Given the description of an element on the screen output the (x, y) to click on. 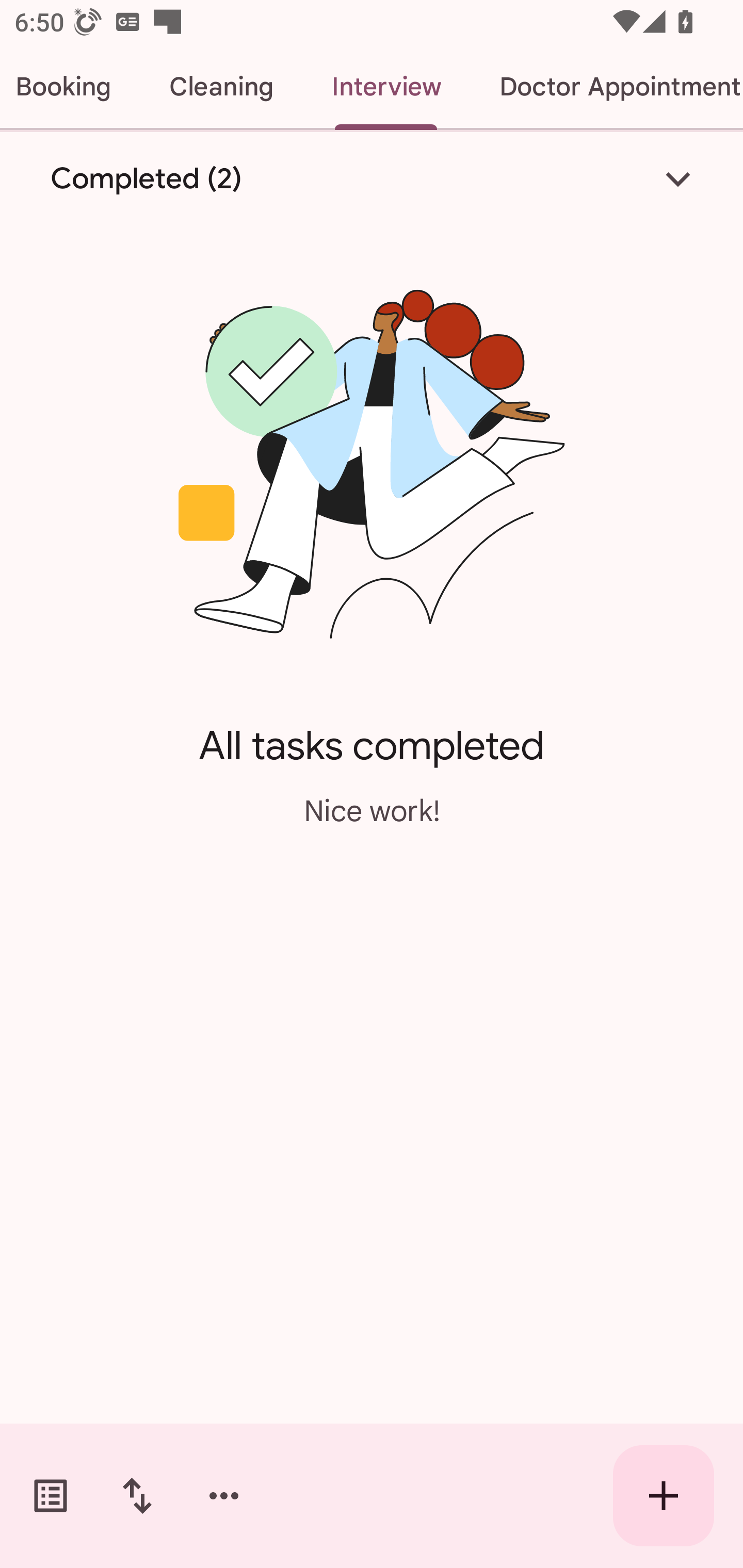
Hotel Booking (69, 86)
Cleaning (220, 86)
Doctor Appointment (606, 86)
Completed (2) (371, 178)
Switch task lists (50, 1495)
Create new task (663, 1495)
Change sort order (136, 1495)
More options (223, 1495)
